Given the description of an element on the screen output the (x, y) to click on. 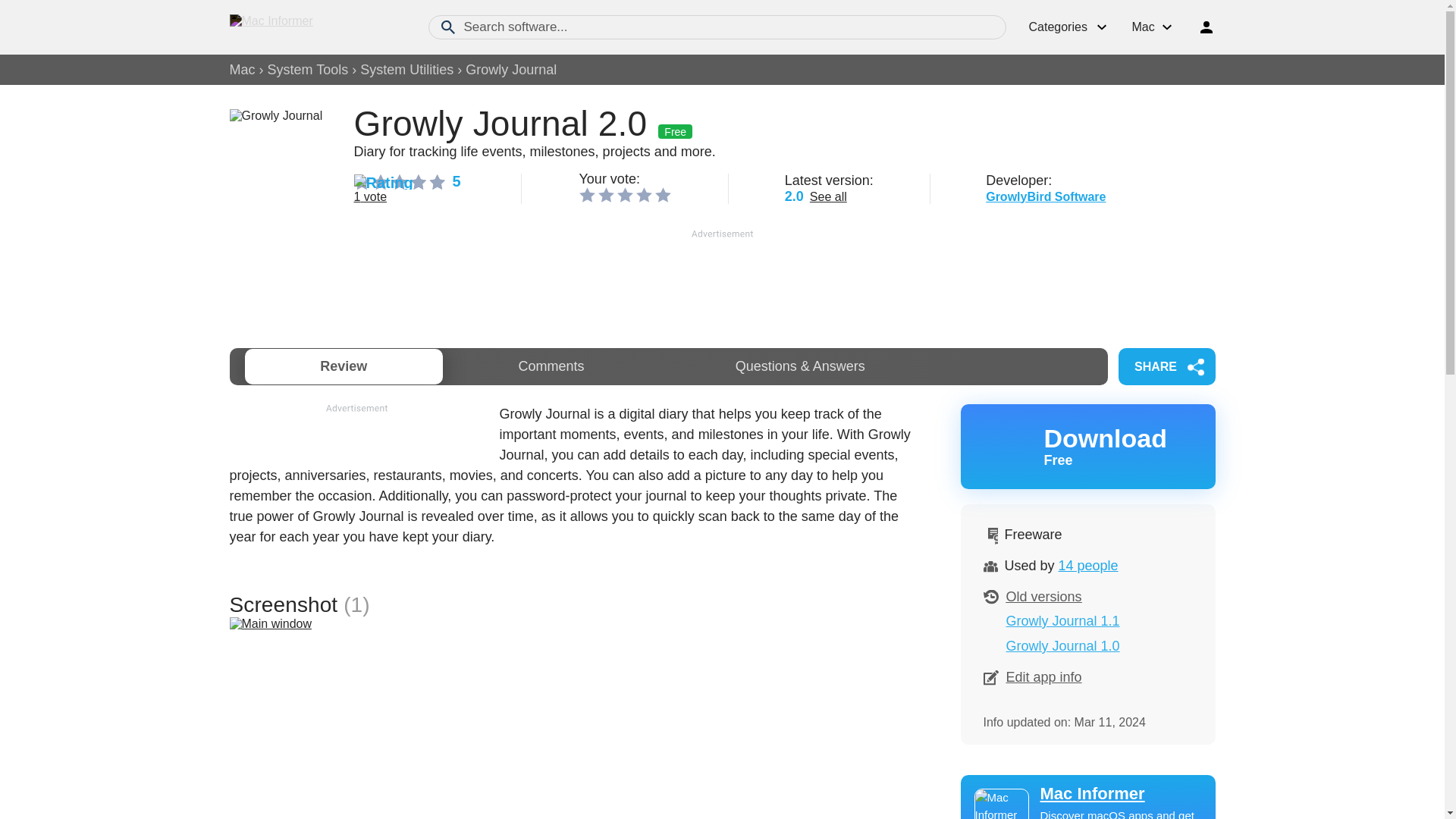
System Utilities (405, 69)
Old versions (1043, 596)
3 (624, 193)
1 (587, 193)
GrowlyBird Software (1045, 195)
Review (343, 366)
Download Growly Journal (1086, 446)
Search software... (717, 27)
SHARE (1086, 446)
